Given the description of an element on the screen output the (x, y) to click on. 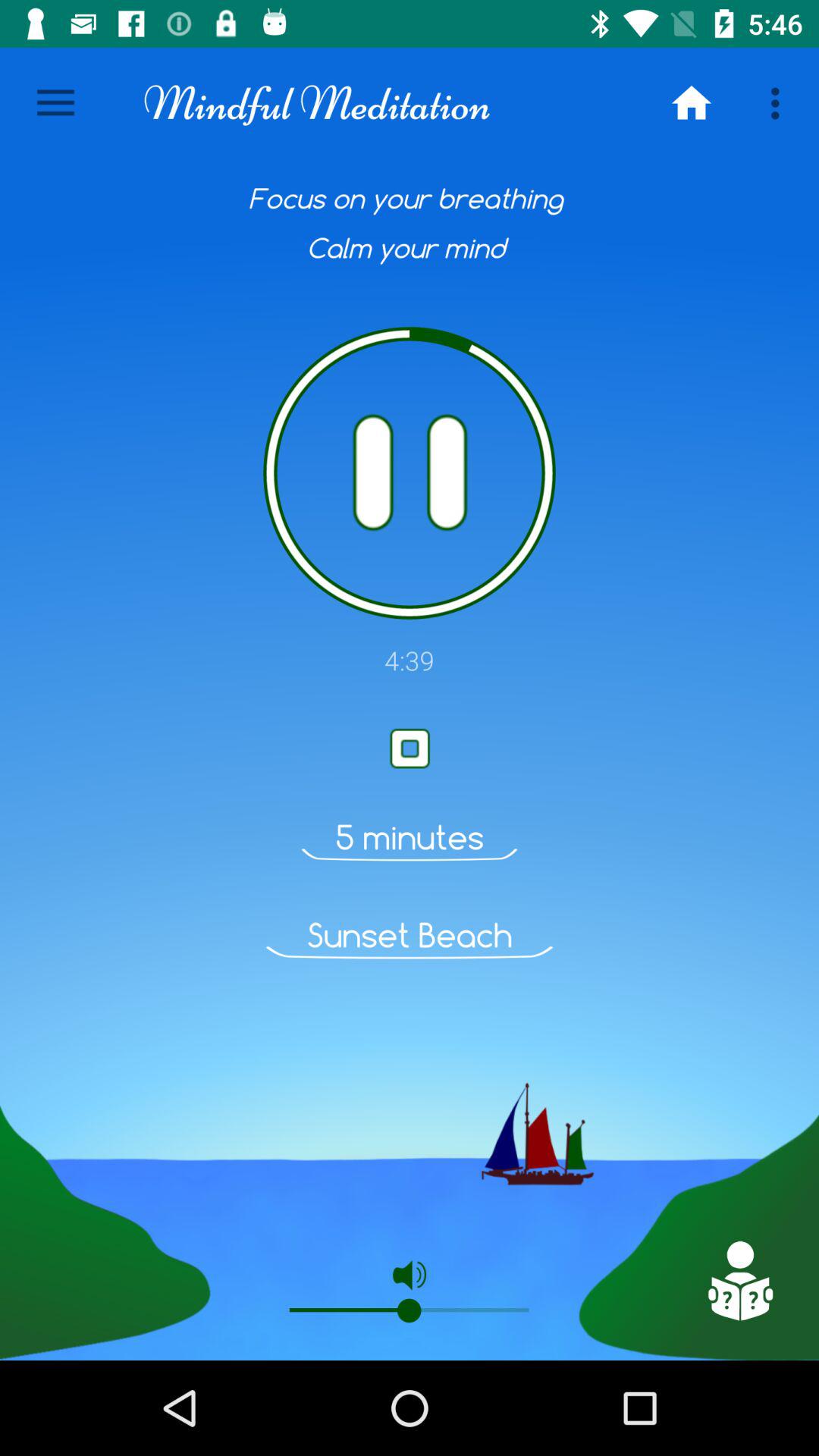
go to faq page (739, 1280)
